Given the description of an element on the screen output the (x, y) to click on. 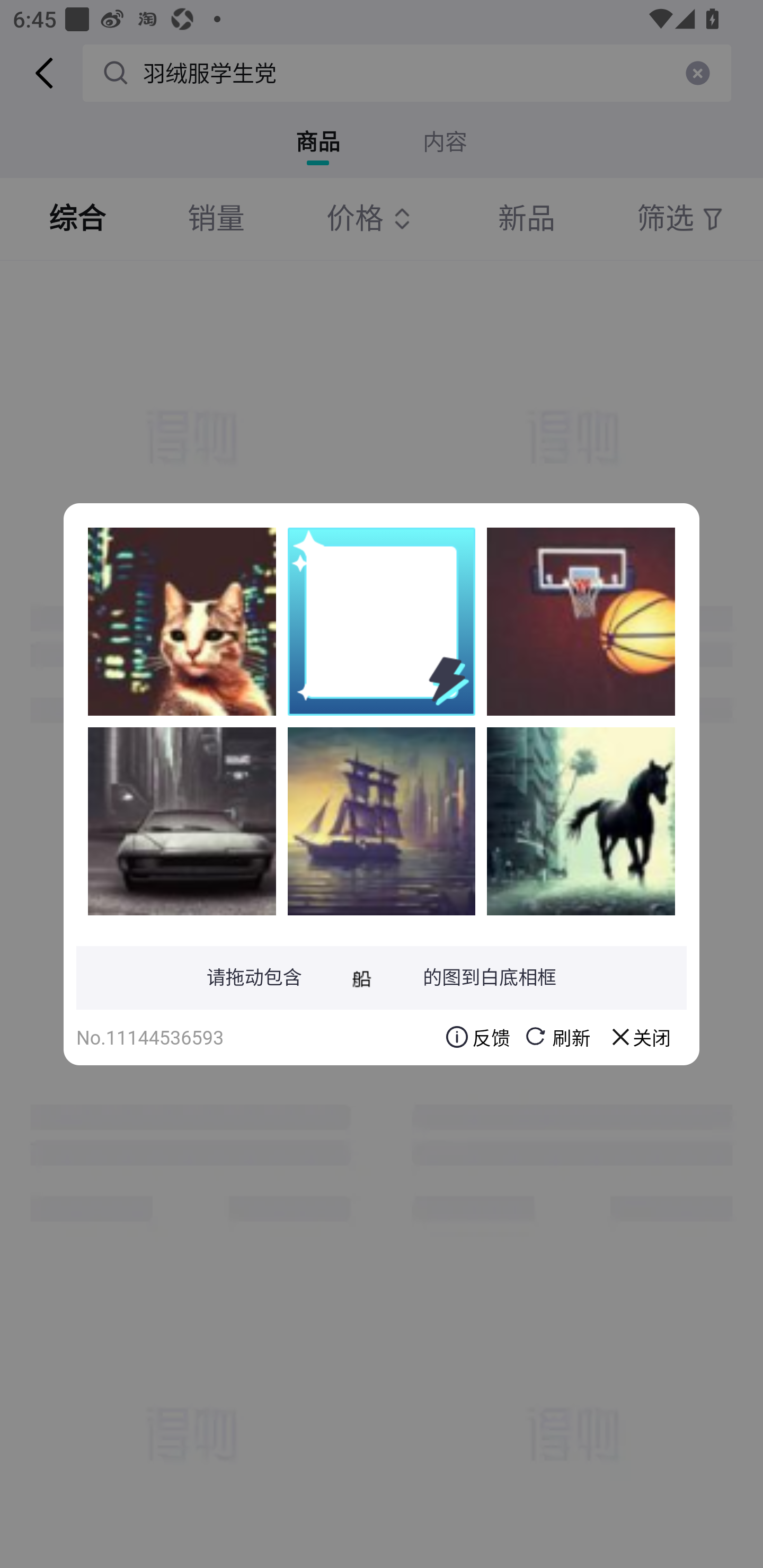
Pir973PuPfmcn7nGXS7z6NlZIZJzPP (181, 621)
Hy0Ty8fDIHLx5NpQV+ghf3R+LF3WG0wEF4fq (580, 621)
GIJn7 (381, 820)
tu6YjzlTMt5m4KCdz (580, 820)
